Given the description of an element on the screen output the (x, y) to click on. 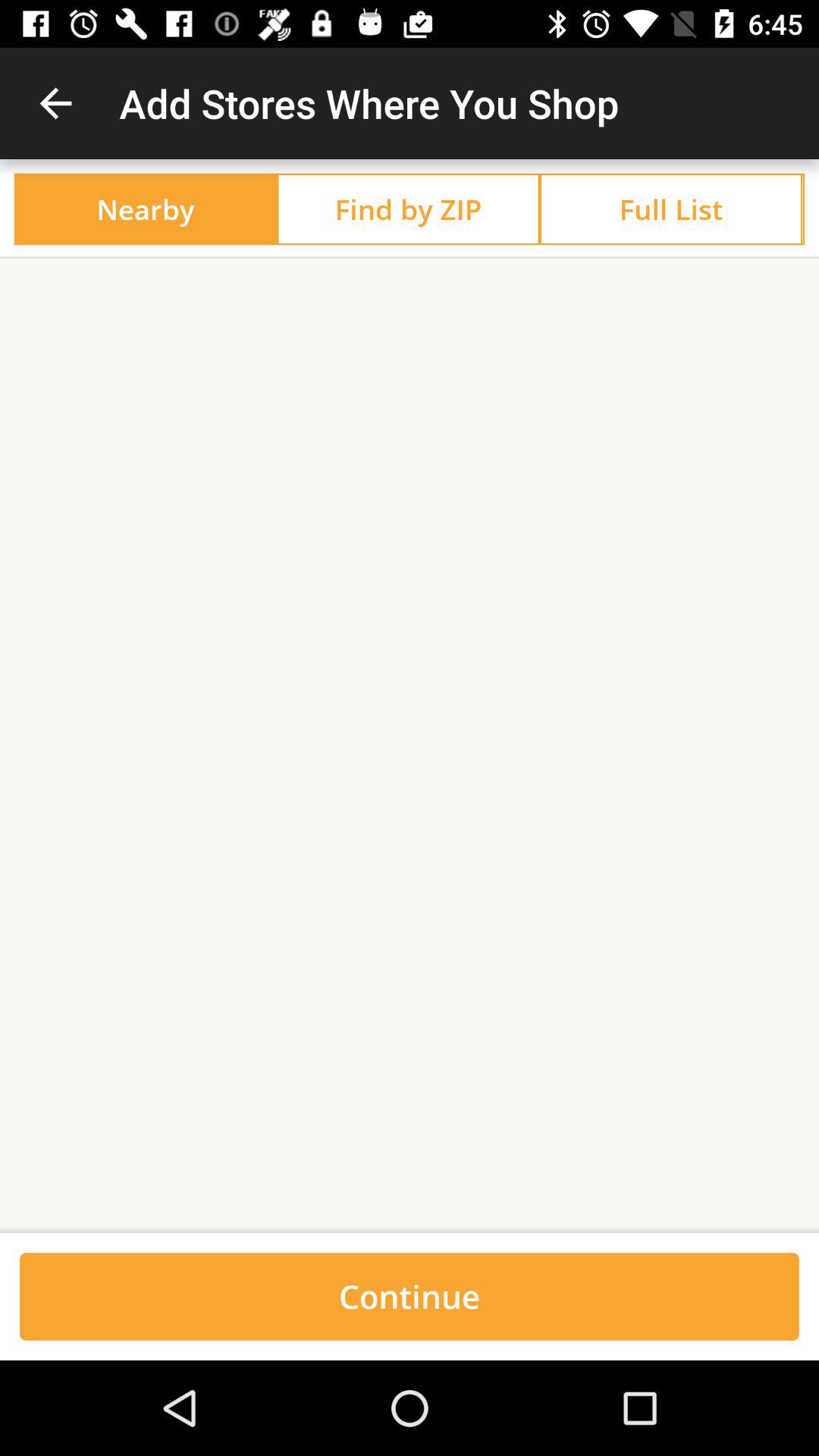
tap the item below nearby item (409, 257)
